Given the description of an element on the screen output the (x, y) to click on. 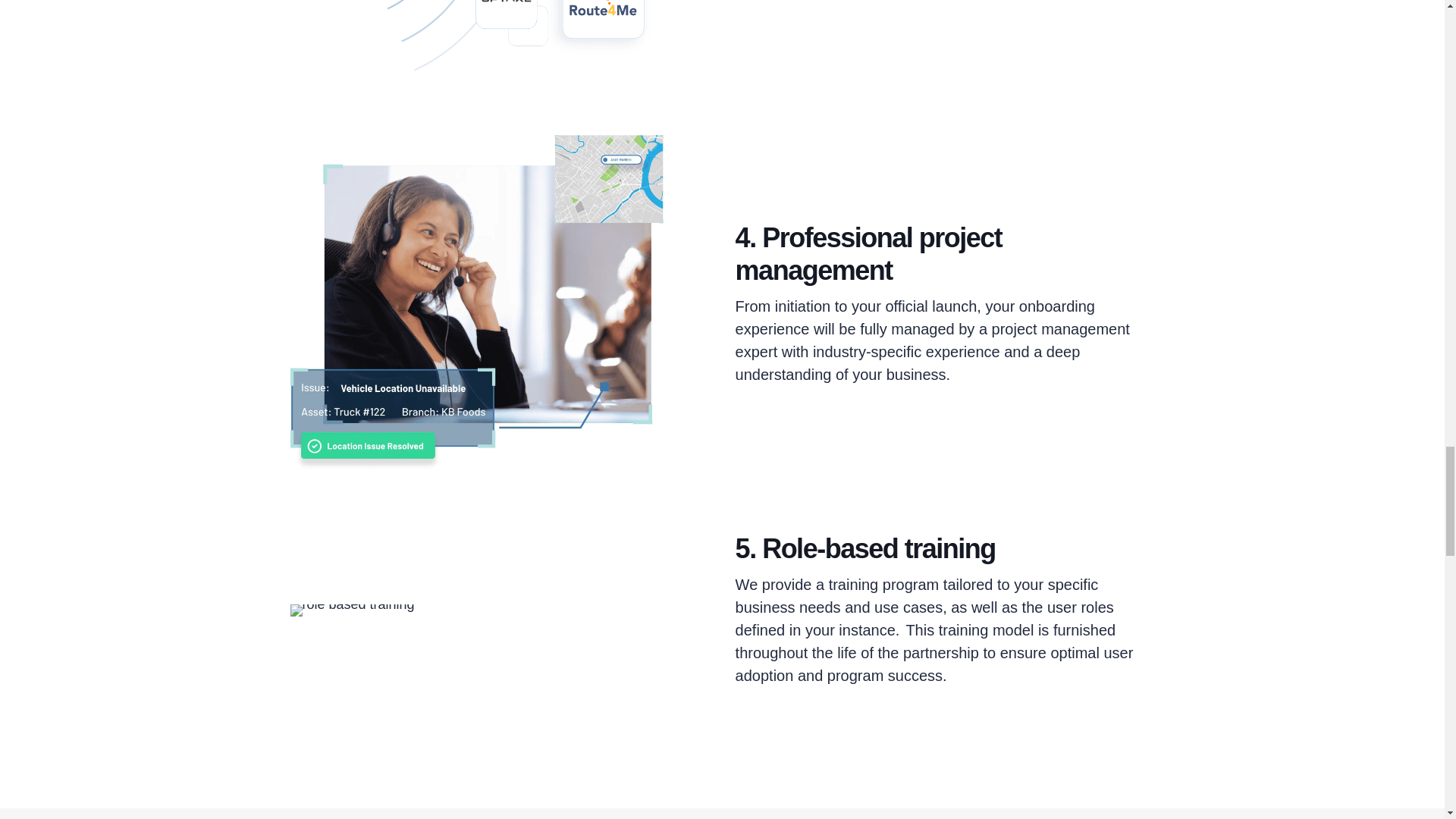
Training (351, 610)
